Given the description of an element on the screen output the (x, y) to click on. 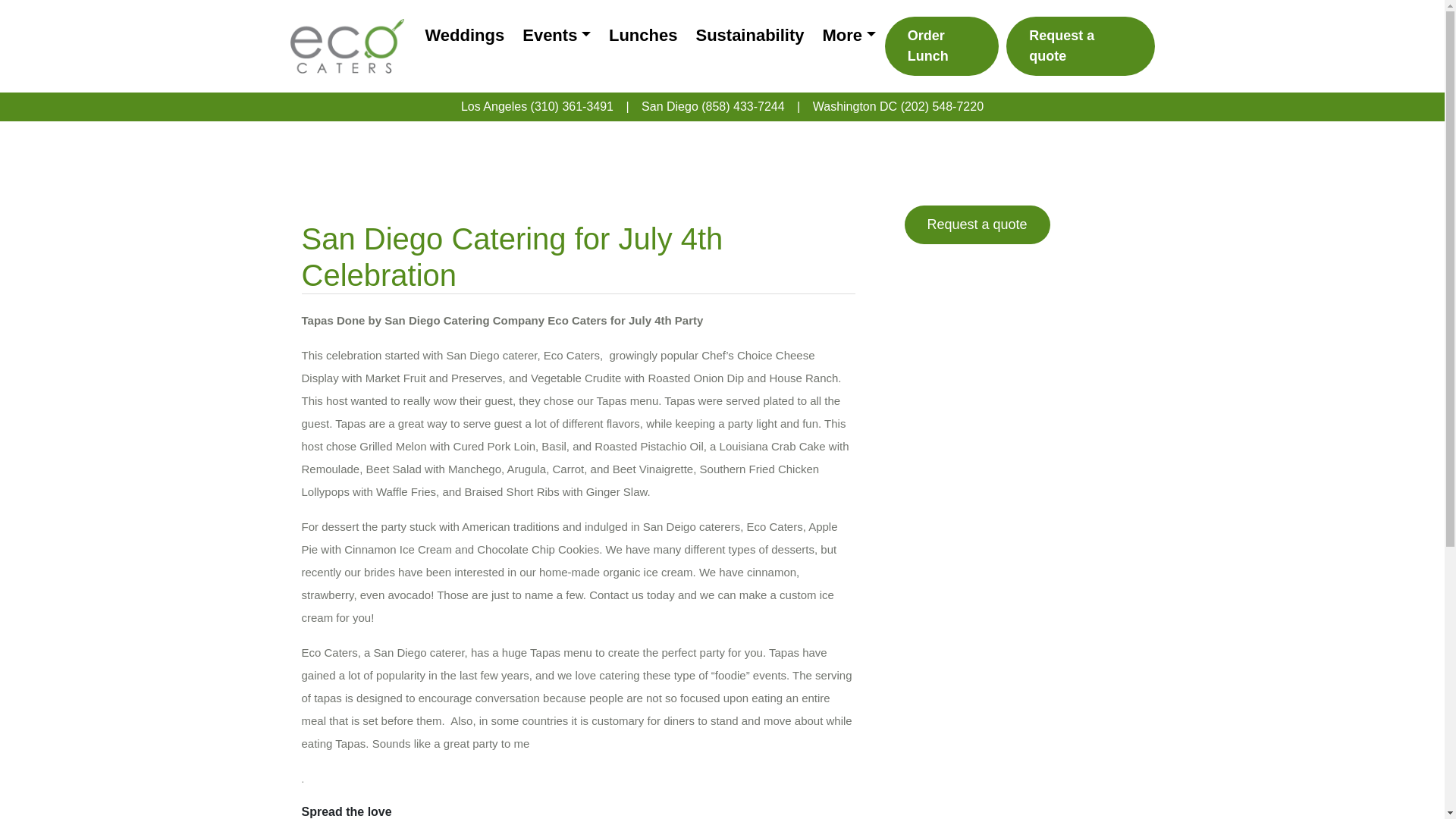
Request a quote (1080, 46)
Weddings (463, 35)
Lunches (642, 35)
Order Lunch (941, 46)
Sustainability (748, 35)
More (847, 35)
Weddings (463, 35)
Events (556, 35)
More (847, 35)
Events (556, 35)
Sustainability (748, 35)
Lunches (642, 35)
